Given the description of an element on the screen output the (x, y) to click on. 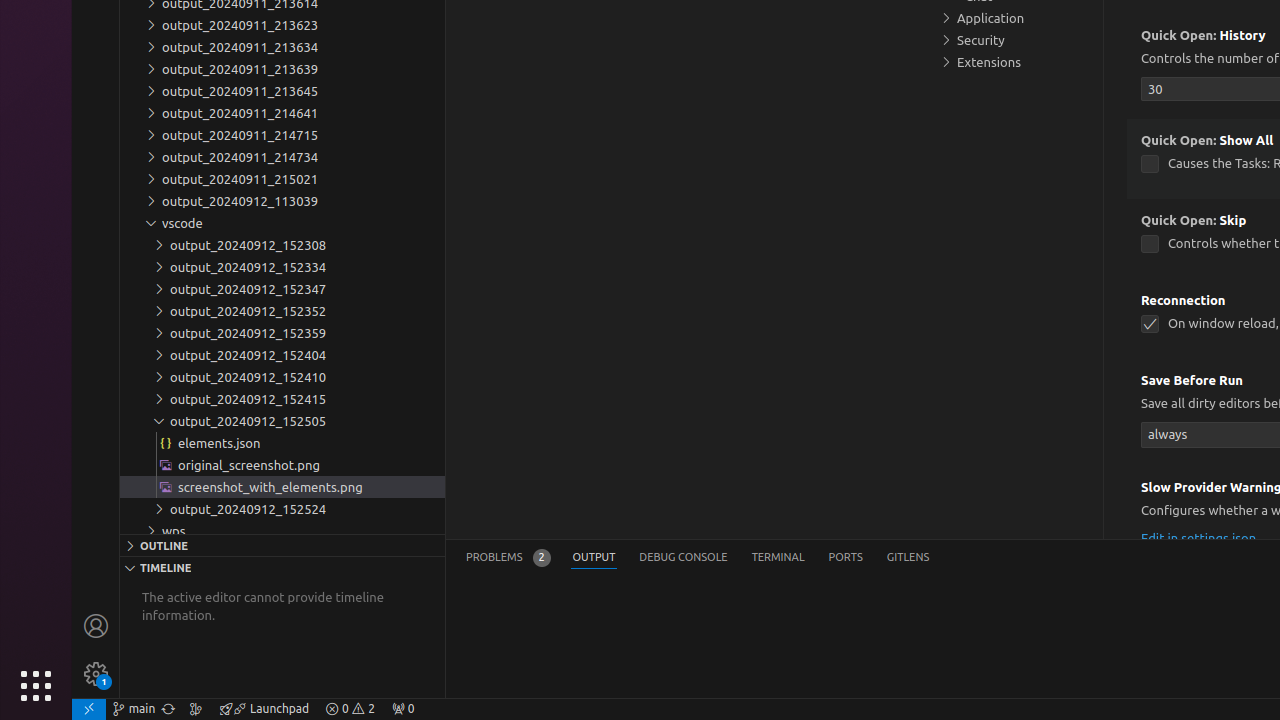
output_20240911_215021 Element type: tree-item (282, 179)
output_20240912_152308 Element type: tree-item (282, 245)
elements.json Element type: tree-item (282, 443)
Problems (Ctrl+Shift+M) - Total 2 Problems Element type: page-tab (507, 557)
More Actions... (Shift+F9) Element type: push-button (1116, 485)
